Given the description of an element on the screen output the (x, y) to click on. 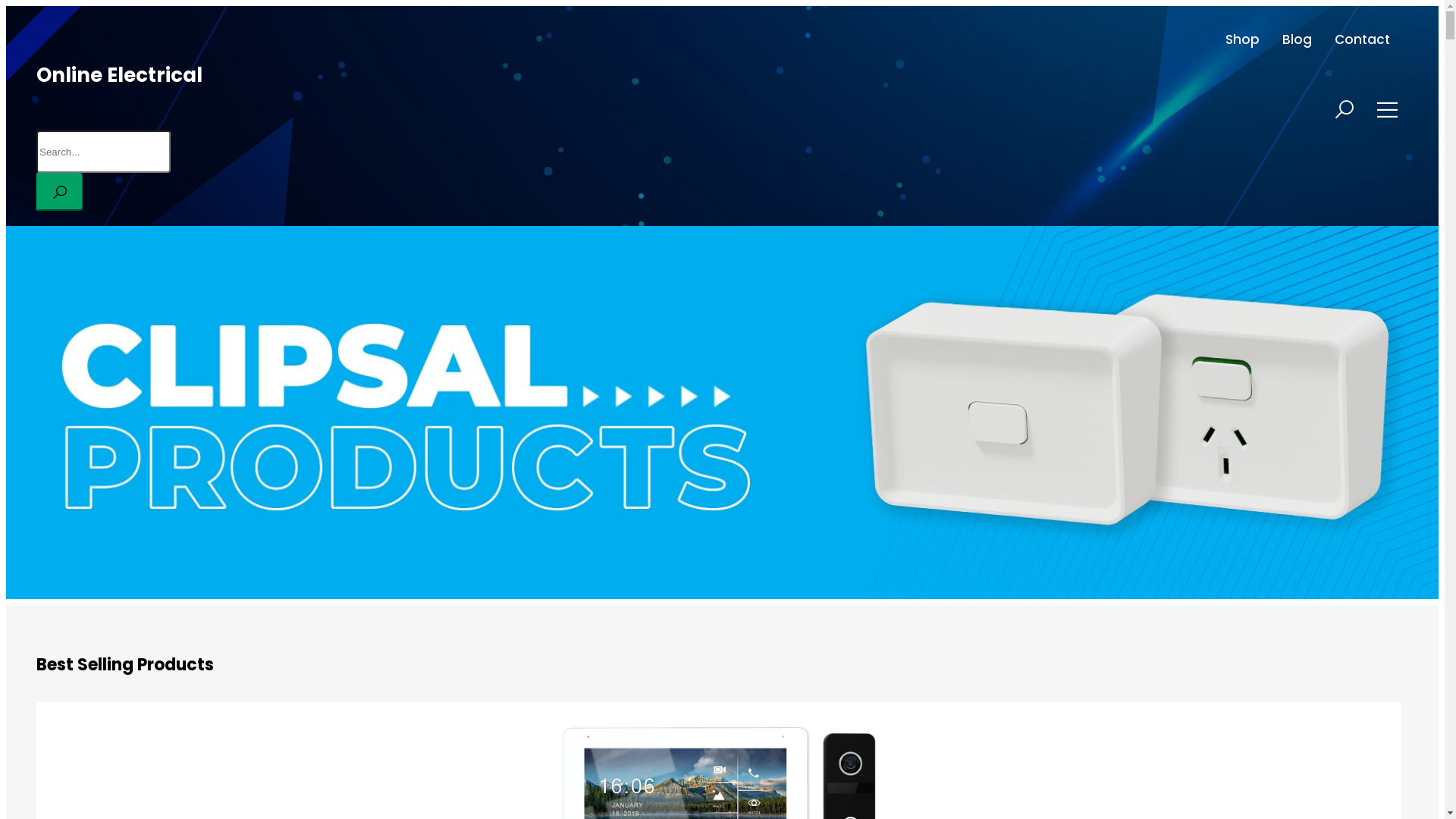
Contact Element type: text (1362, 39)
Online Electrical Element type: text (119, 74)
Blog Element type: text (1296, 39)
Shop Element type: text (1242, 39)
